Given the description of an element on the screen output the (x, y) to click on. 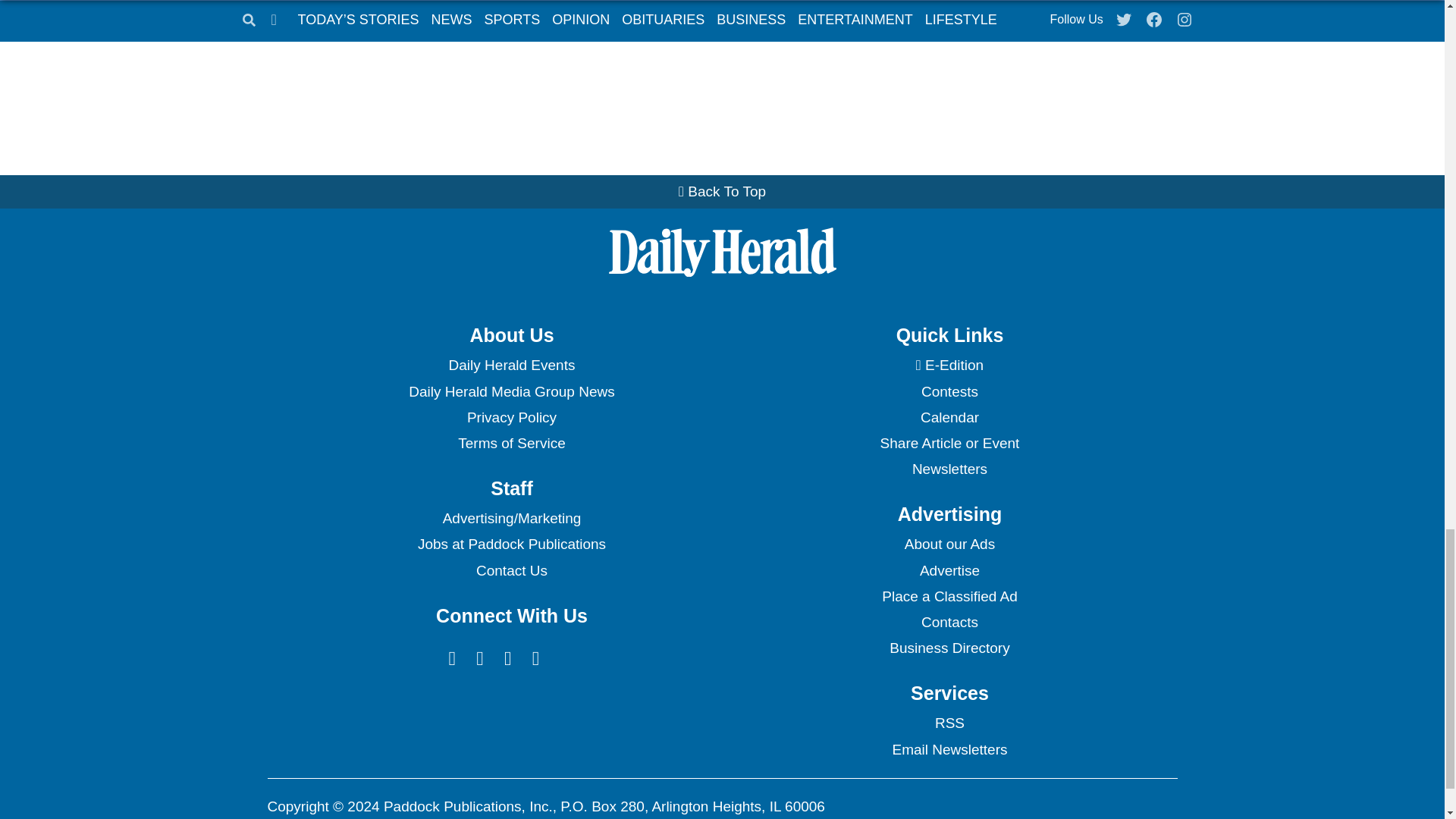
Daily Herald Media Group News (511, 391)
Terms of Service (511, 443)
Contact Us (511, 570)
Privacy Policy (511, 417)
Daily Herald Events (511, 365)
Jobs at Paddock Publications (511, 544)
Daily Herald Digital Newspaper (949, 365)
